Given the description of an element on the screen output the (x, y) to click on. 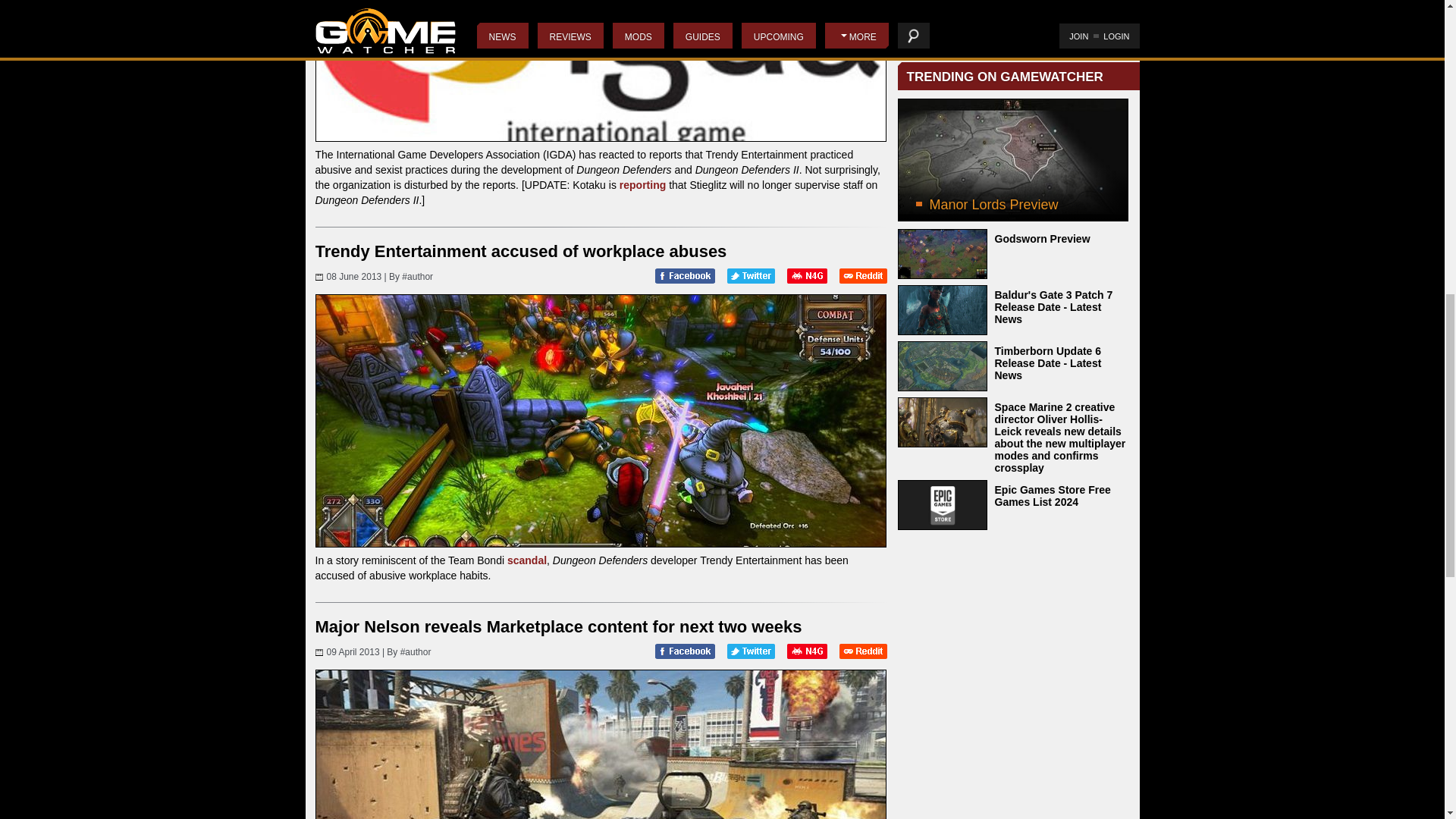
Trendy Entertainment accused of workplace abuses (520, 251)
reporting (642, 184)
